Given the description of an element on the screen output the (x, y) to click on. 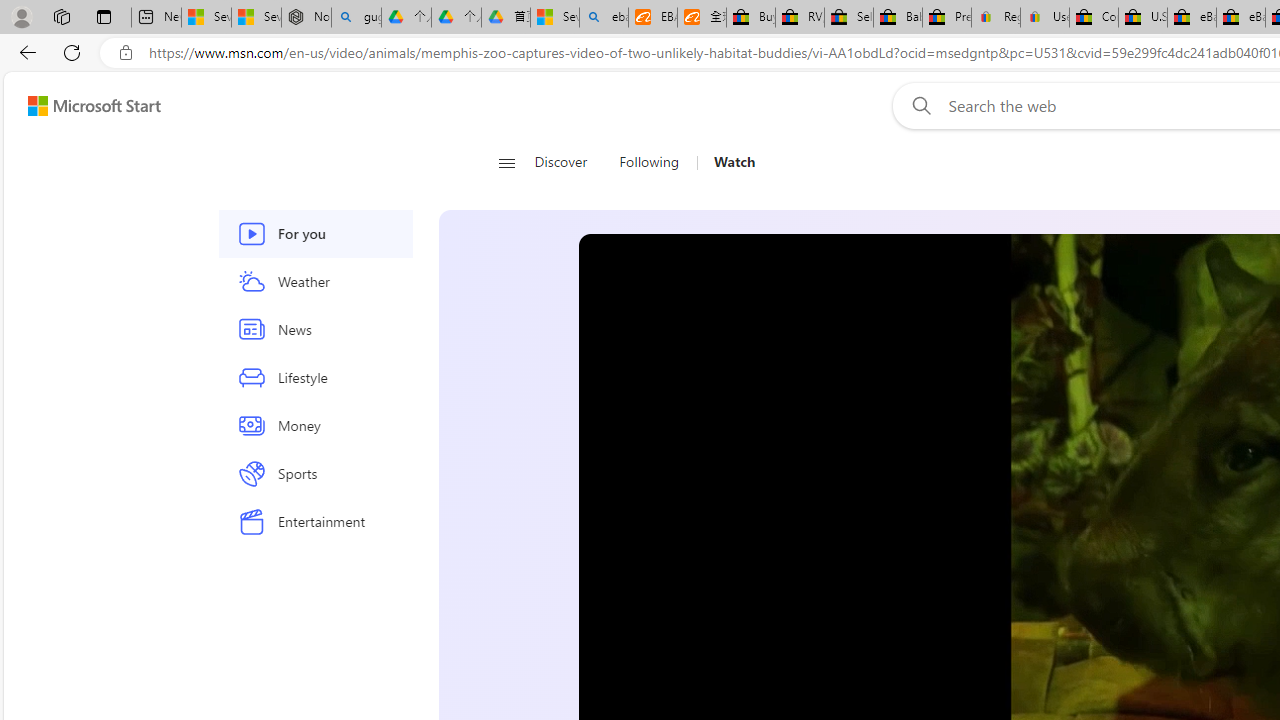
Register: Create a personal eBay account (995, 17)
eBay Inc. Reports Third Quarter 2023 Results (1240, 17)
U.S. State Privacy Disclosures - eBay Inc. (1142, 17)
